Given the description of an element on the screen output the (x, y) to click on. 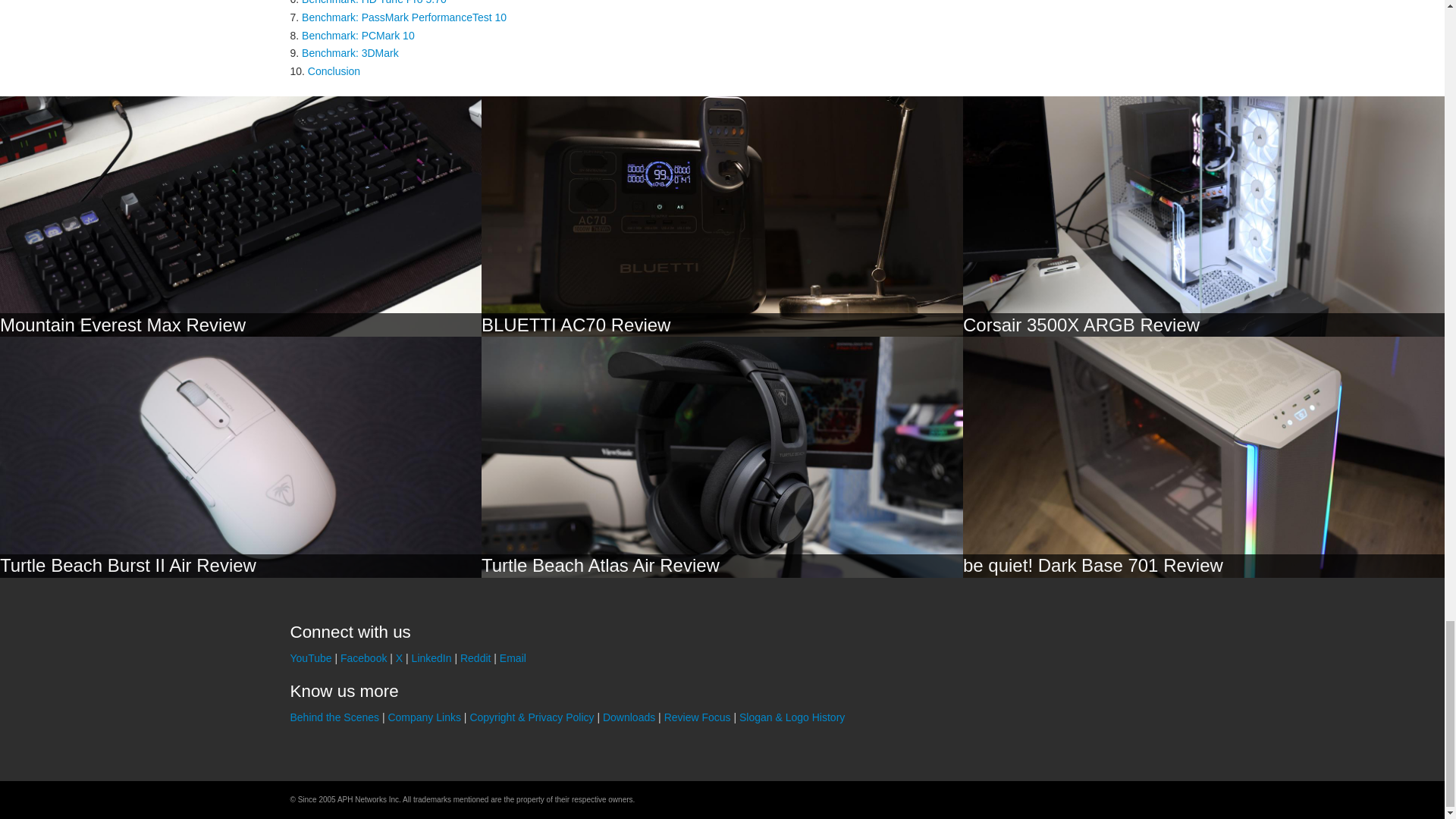
BLUETTI AC70 Review (575, 324)
Benchmark: 3DMark (349, 52)
Mountain Everest Max Review (123, 324)
Turtle Beach Burst II Air Review (128, 565)
Conclusion (333, 70)
Benchmark: PassMark PerformanceTest 10 (403, 17)
Benchmark: HD Tune Pro 5.70 (373, 2)
be quiet! Dark Base 701 Review (1092, 565)
Corsair 3500X ARGB Review (1080, 324)
Benchmark: PCMark 10 (357, 35)
